Given the description of an element on the screen output the (x, y) to click on. 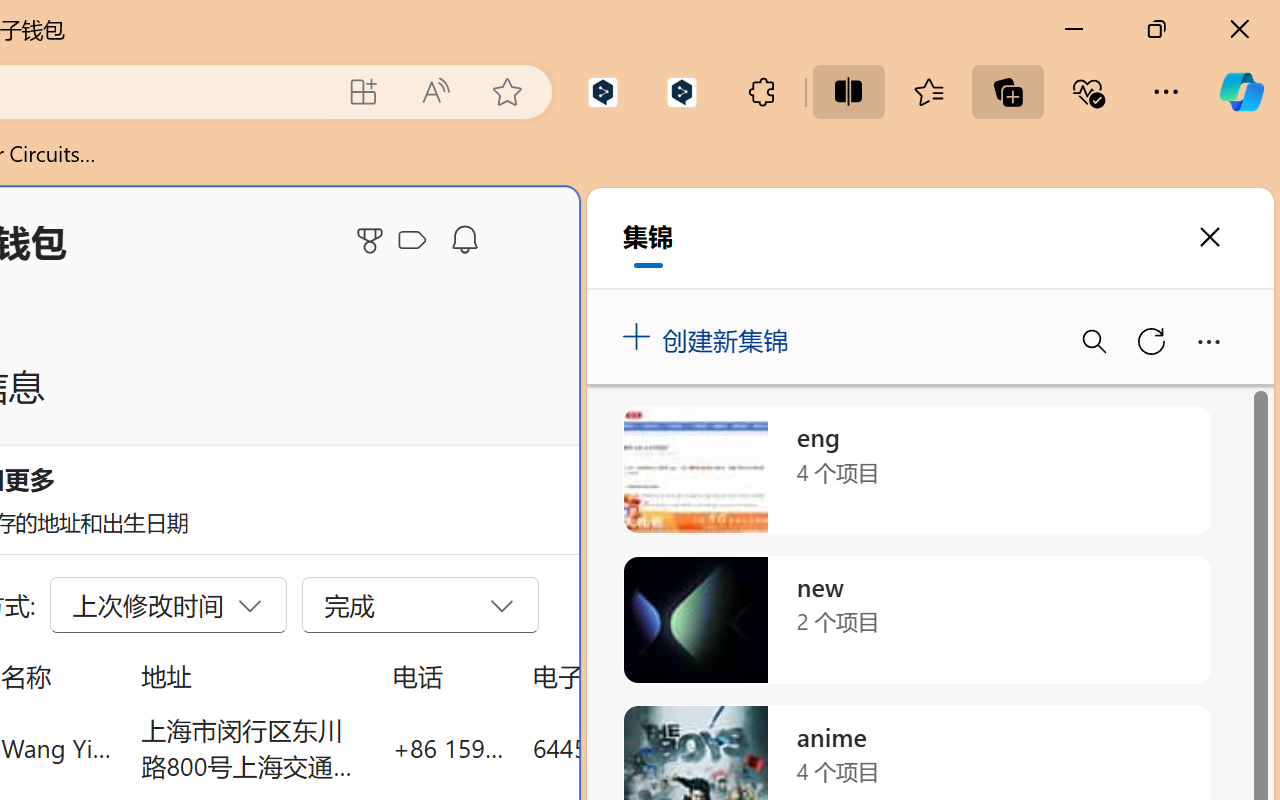
Microsoft Cashback (415, 241)
Class: ___1lmltc5 f1agt3bx f12qytpq (411, 241)
644553698@qq.com (644, 747)
